Given the description of an element on the screen output the (x, y) to click on. 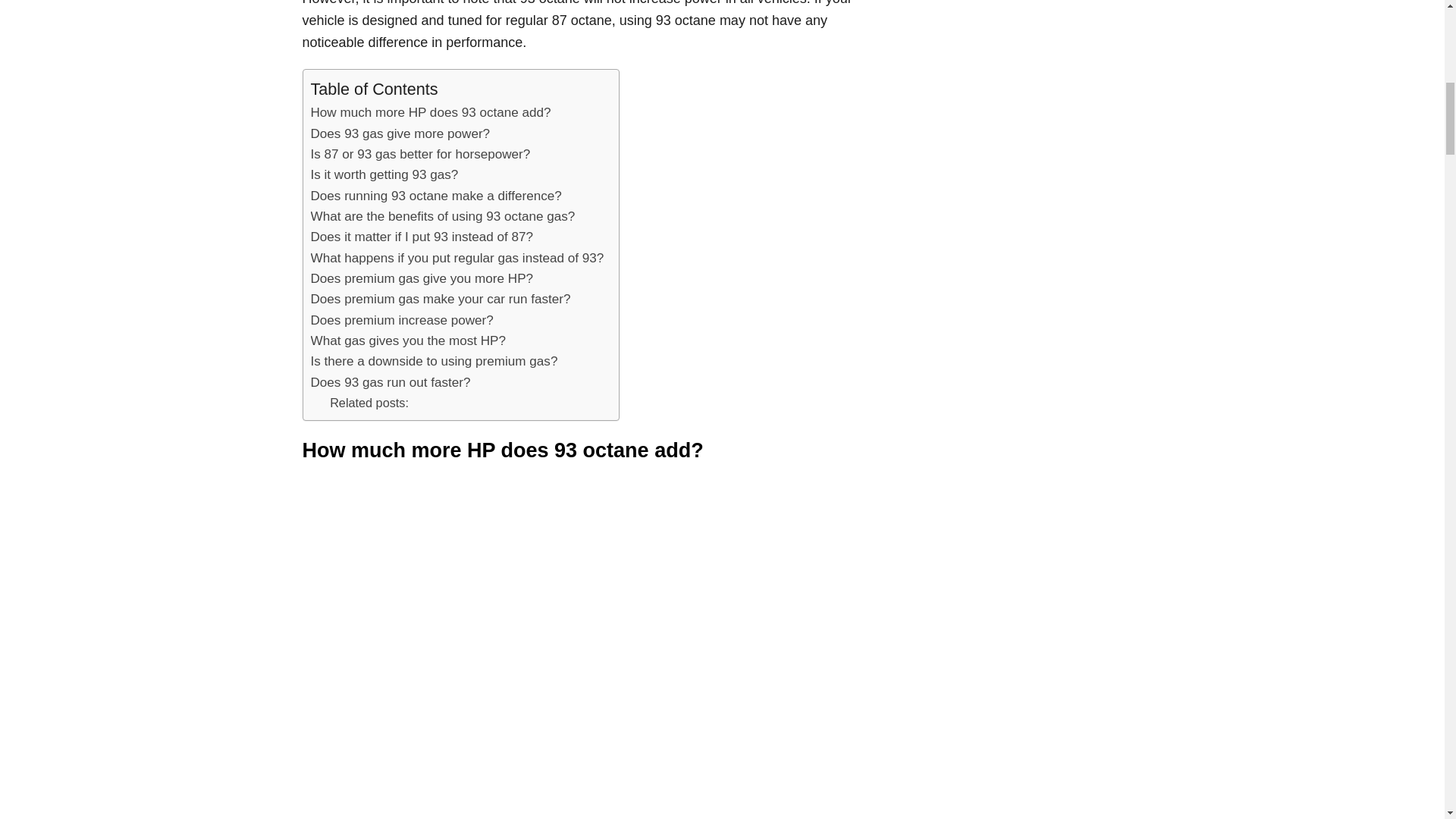
Is there a downside to using premium gas? (434, 361)
Does it matter if I put 93 instead of 87? (422, 236)
Is there a downside to using premium gas? (434, 361)
Does 93 gas give more power? (400, 133)
Is 87 or 93 gas better for horsepower? (421, 154)
Is 87 or 93 gas better for horsepower? (421, 154)
What gas gives you the most HP? (408, 340)
Does running 93 octane make a difference? (436, 195)
Does premium gas give you more HP? (422, 278)
Does premium increase power? (402, 320)
